Given the description of an element on the screen output the (x, y) to click on. 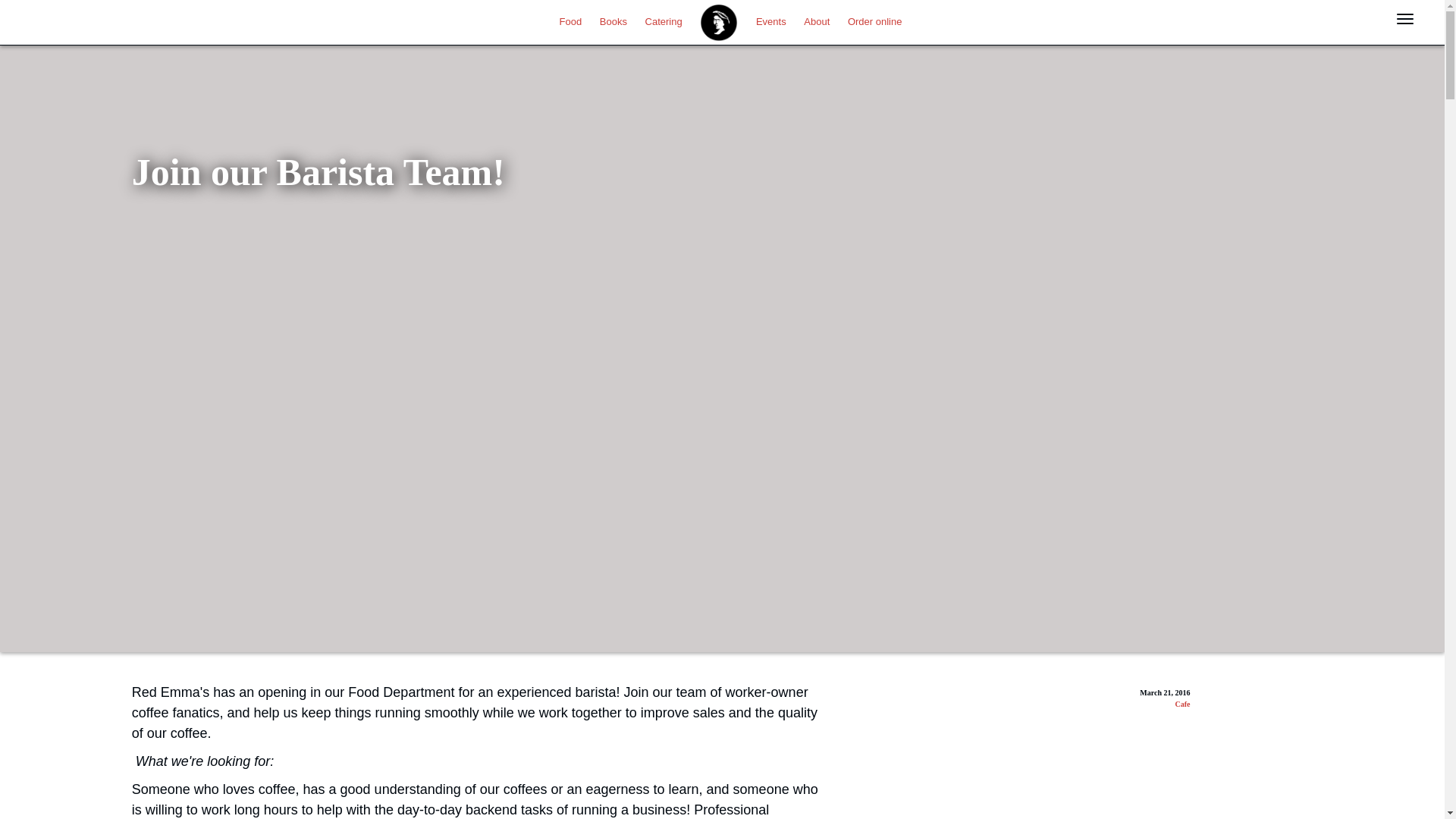
Events (770, 20)
Food (570, 20)
Toggle navigation (1405, 18)
Catering (663, 20)
About (816, 20)
Books (613, 20)
Order online (875, 20)
Cafe (1181, 704)
